Given the description of an element on the screen output the (x, y) to click on. 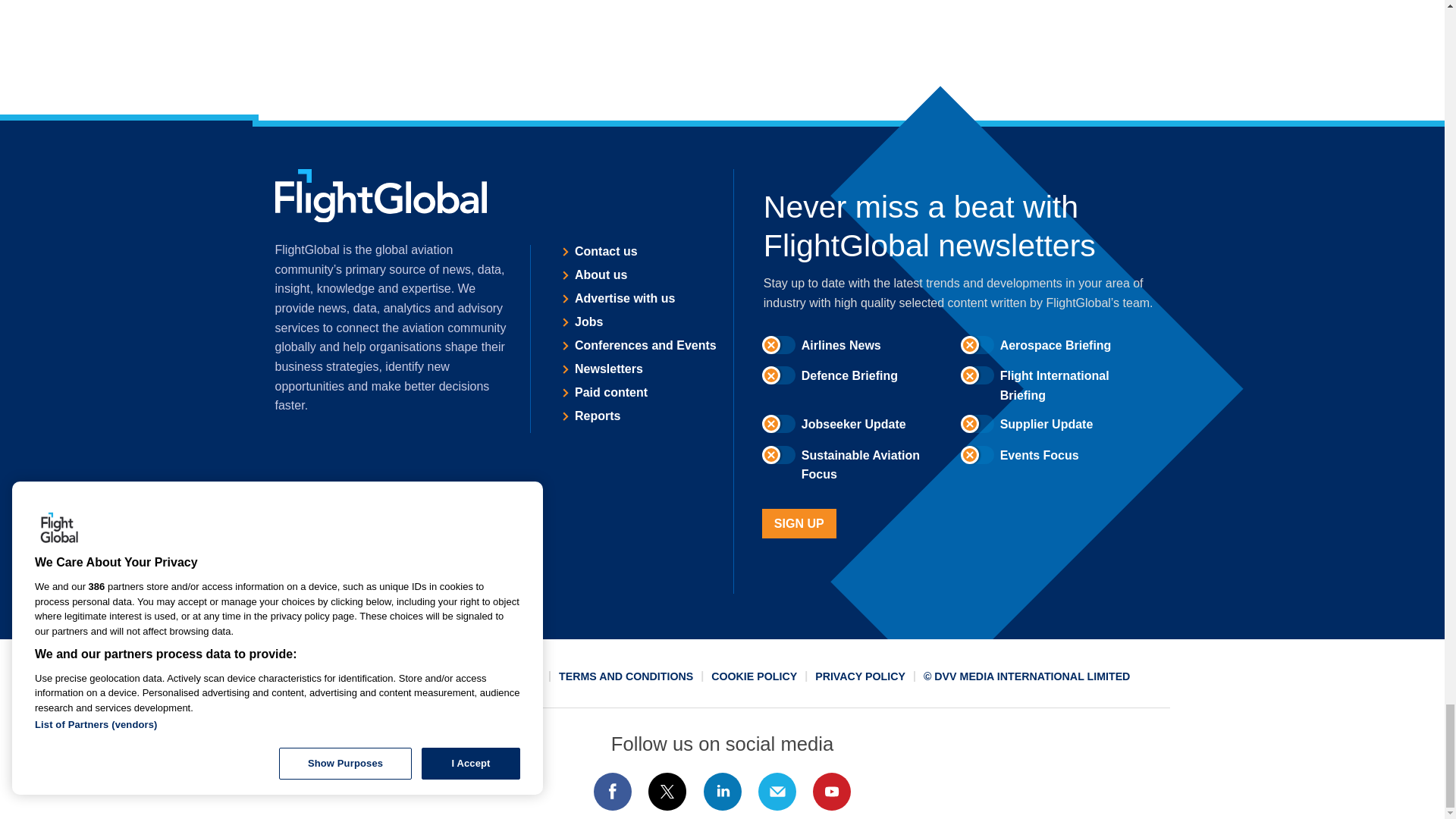
Connect with us on Twitter (667, 791)
Connect with us on Facebook (611, 791)
Connect with us on Linked In (721, 791)
Email us (776, 791)
Connect with us on Youtube (831, 791)
